Given the description of an element on the screen output the (x, y) to click on. 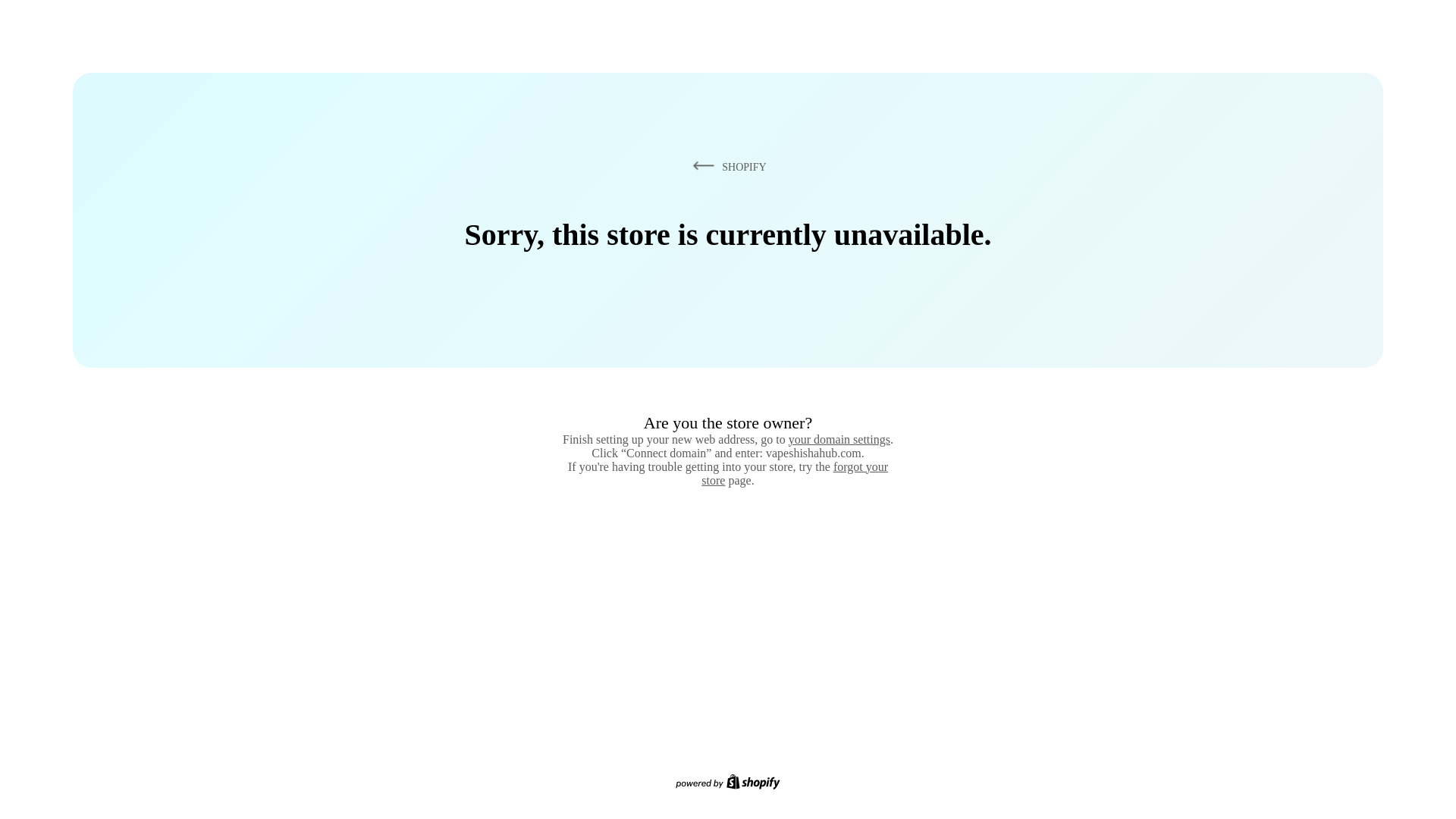
your domain settings (839, 439)
SHOPIFY (726, 166)
forgot your store (794, 473)
